Given the description of an element on the screen output the (x, y) to click on. 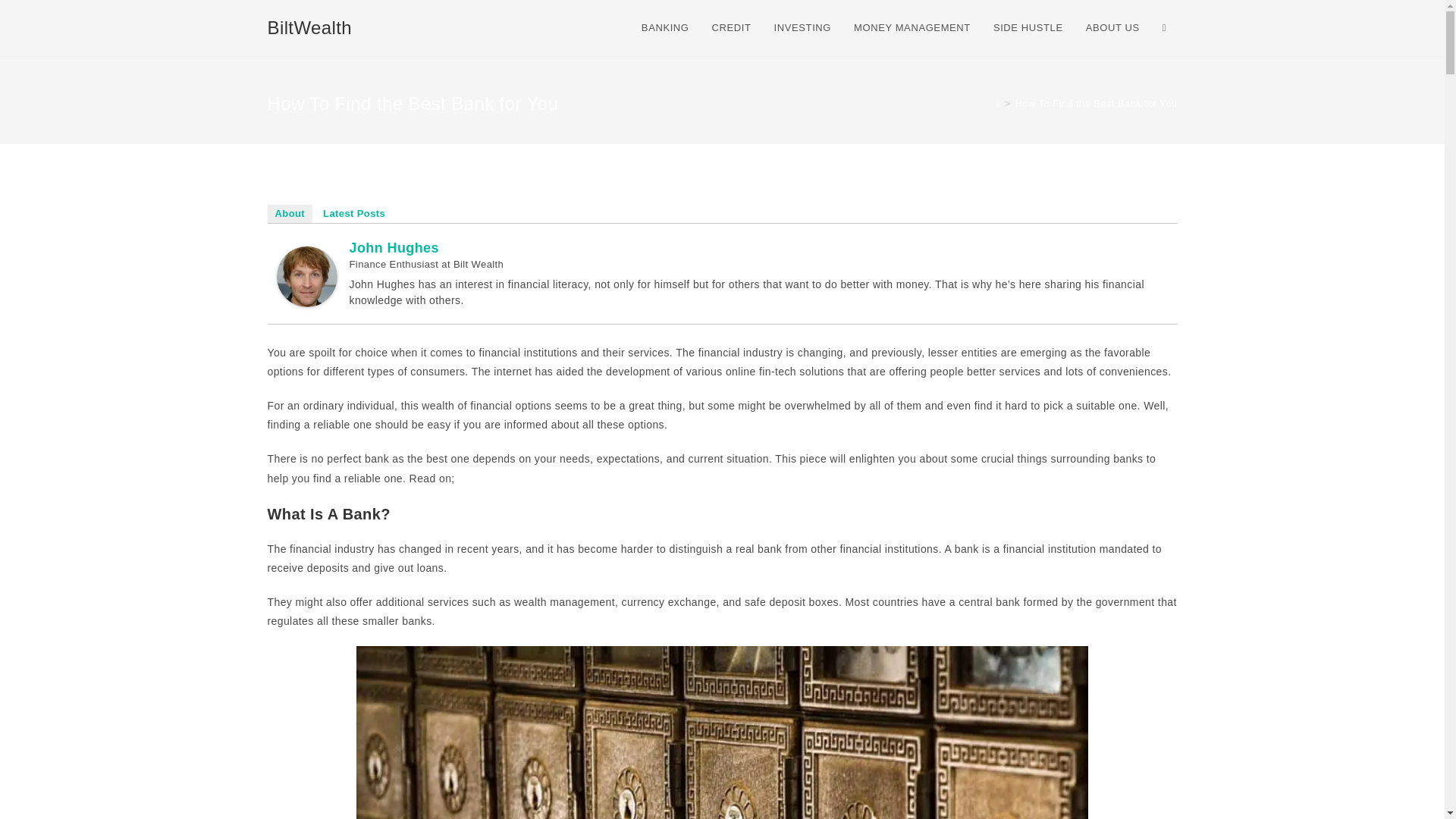
John Hughes (306, 275)
SIDE HUSTLE (1027, 28)
Latest Posts (354, 213)
ABOUT US (1112, 28)
John Hughes (393, 247)
How To Find the Best Bank for You (1095, 102)
MONEY MANAGEMENT (912, 28)
About (289, 213)
INVESTING (802, 28)
BiltWealth (309, 27)
BANKING (665, 28)
CREDIT (731, 28)
